Given the description of an element on the screen output the (x, y) to click on. 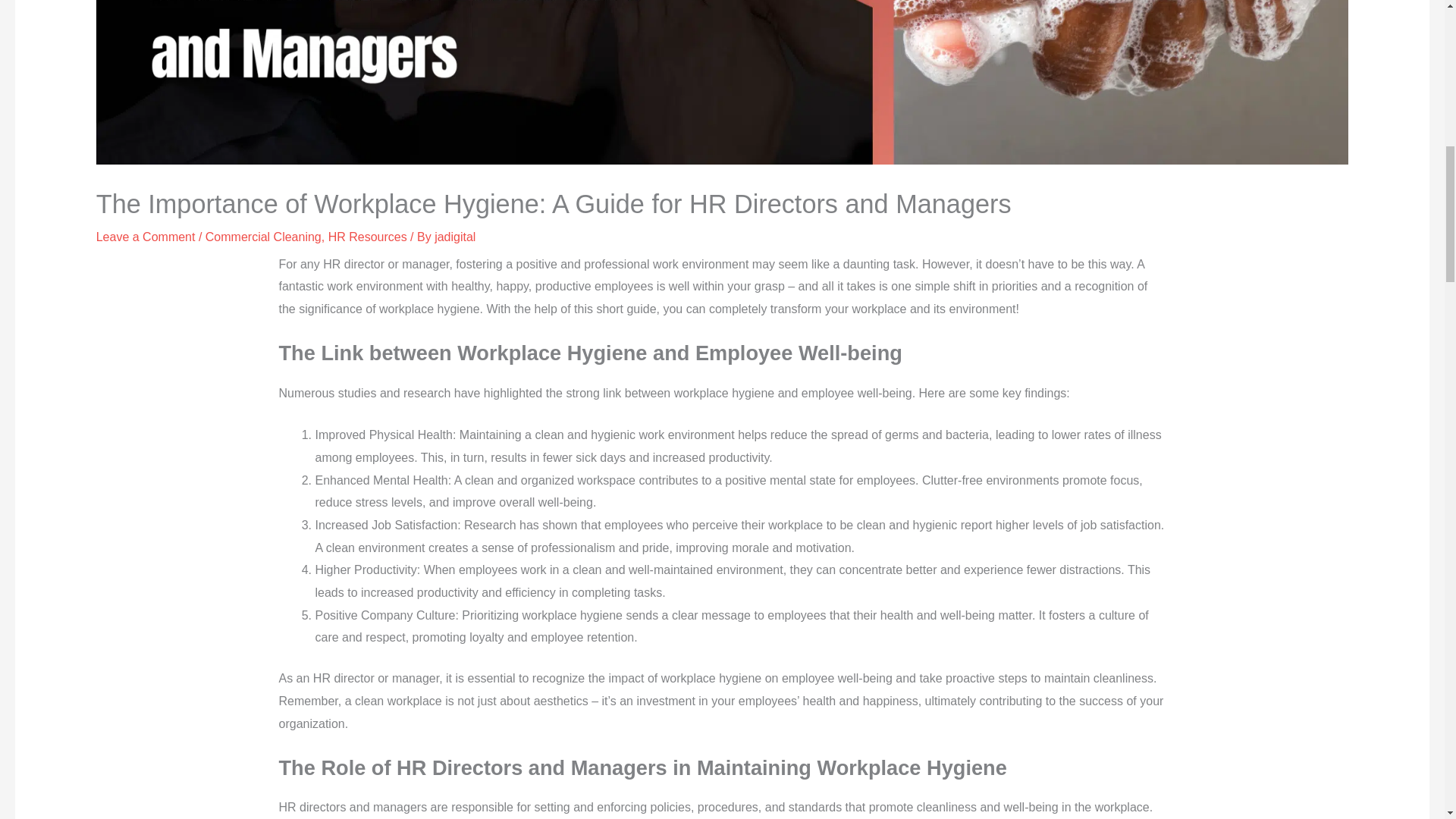
View all posts by jadigital (454, 236)
Leave a Comment (145, 236)
jadigital (454, 236)
HR Resources (368, 236)
Commercial Cleaning (263, 236)
